Given the description of an element on the screen output the (x, y) to click on. 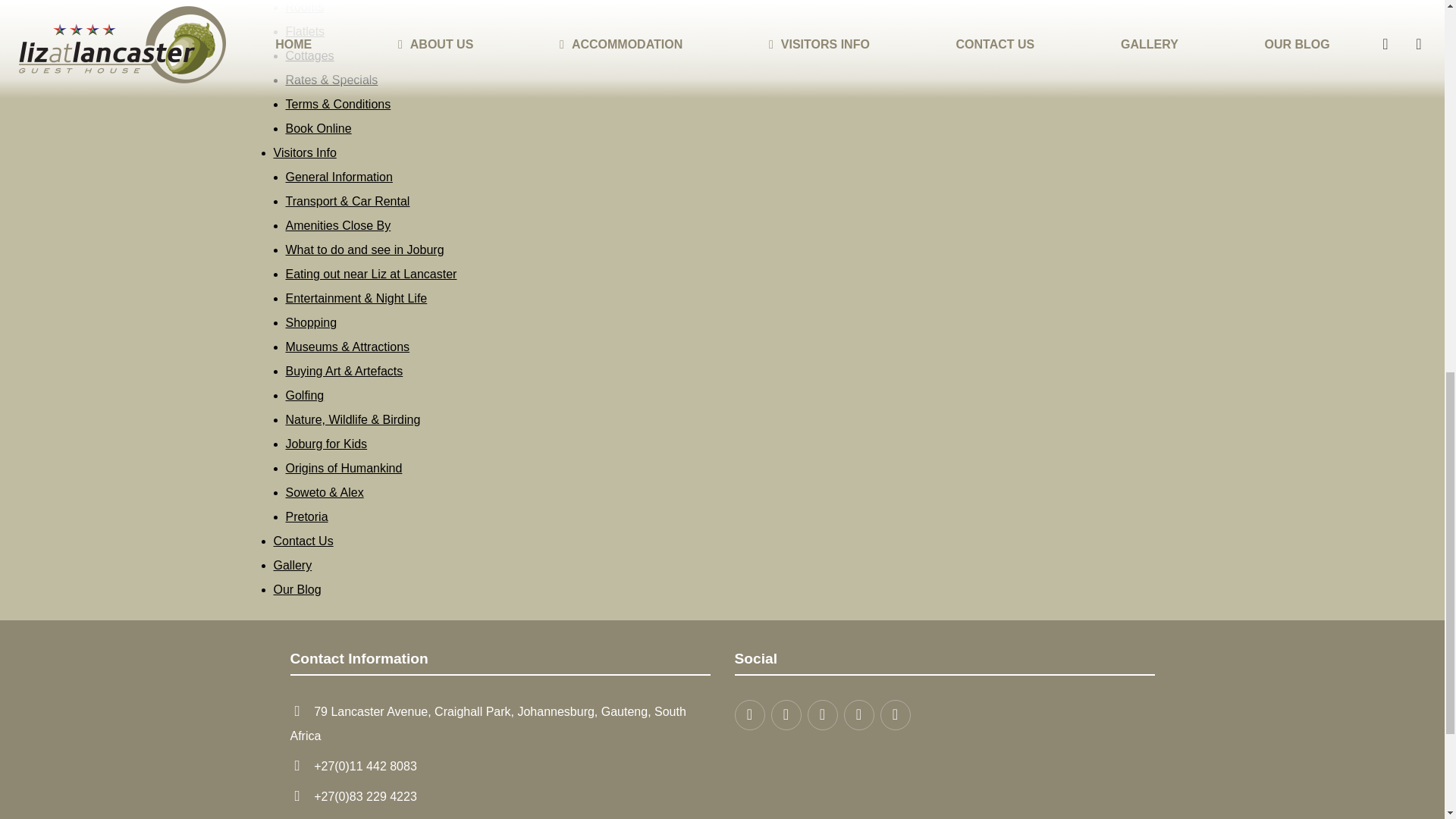
Like Liz at Lancaster on Facebook (785, 715)
Liz at Lancaster on LinkedIn (858, 715)
Follow Liz at Lancaster on Instagram (821, 715)
Liz at Lancaster on Google Hotels (894, 715)
